Given the description of an element on the screen output the (x, y) to click on. 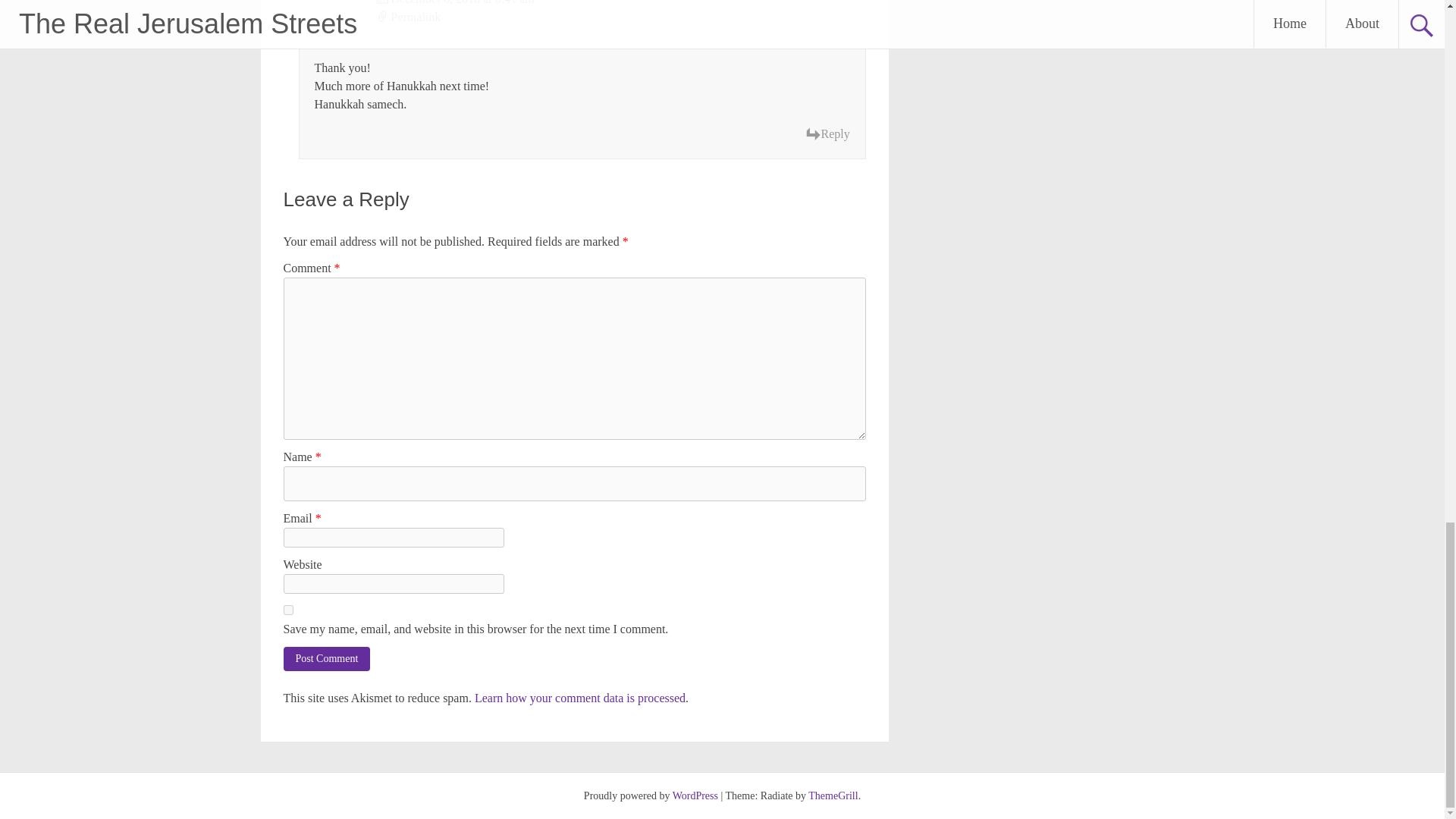
Post Comment (327, 658)
Learn how your comment data is processed (579, 697)
yes (288, 610)
Permalink (620, 17)
Post Comment (327, 658)
Reply (827, 134)
